Given the description of an element on the screen output the (x, y) to click on. 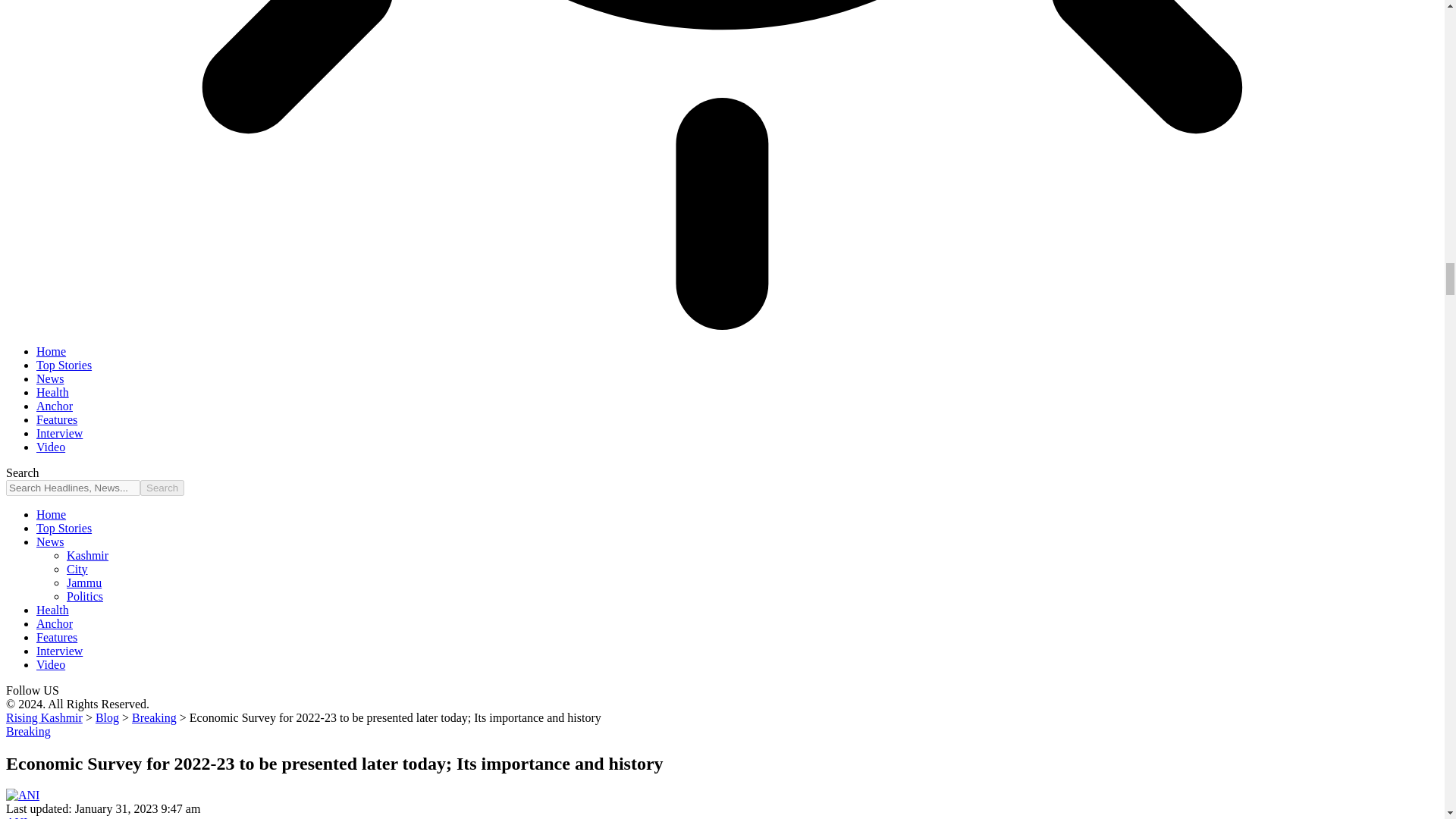
Go to Rising Kashmir. (43, 717)
Search (161, 487)
Go to Blog. (107, 717)
Go to the Breaking Category archives. (154, 717)
